Given the description of an element on the screen output the (x, y) to click on. 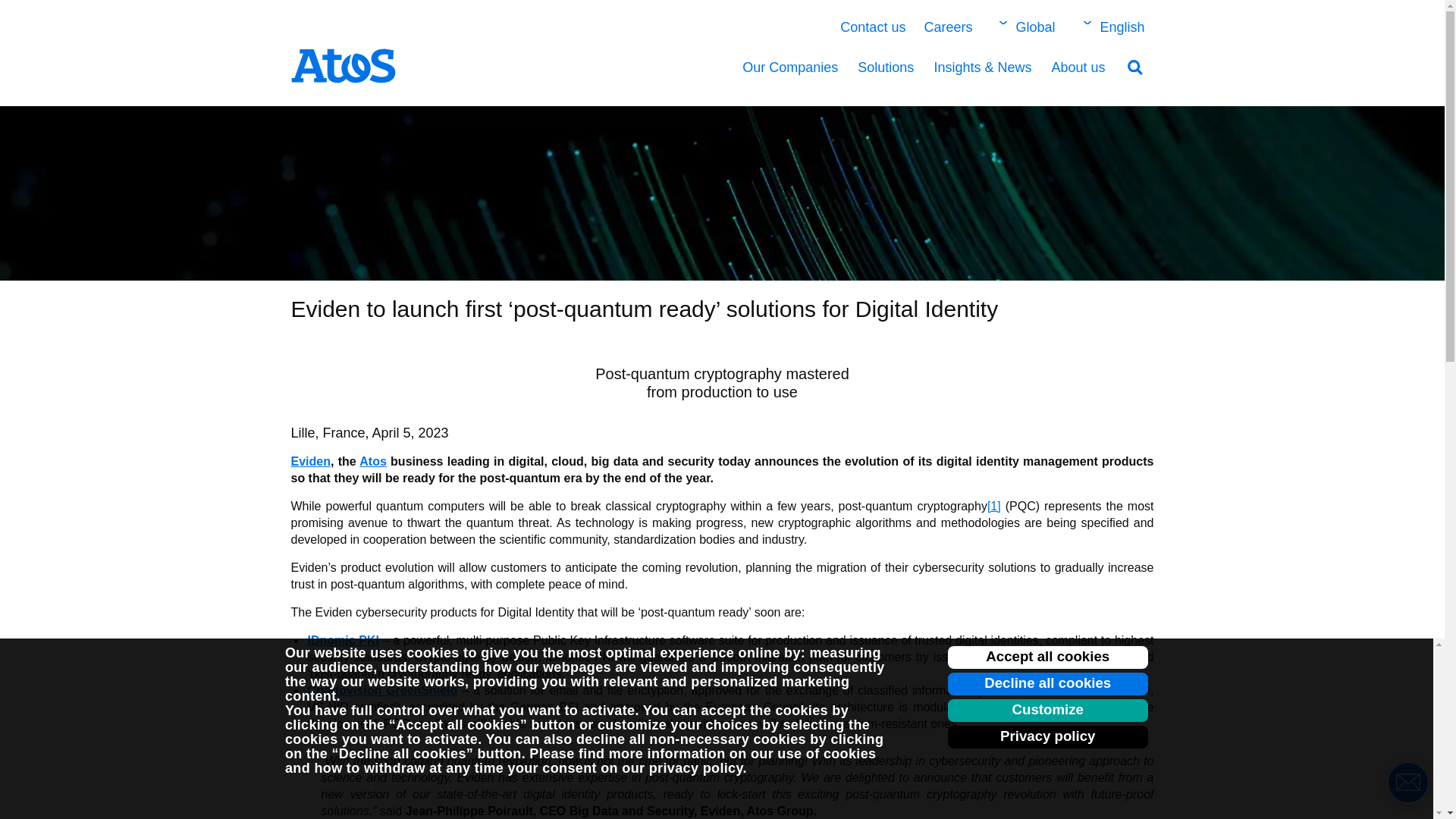
cookies (433, 652)
Privacy policy (1047, 736)
Contact us (872, 27)
Customize (1047, 710)
Careers (947, 27)
privacy policy (695, 767)
Decline all cookies (1047, 683)
Accept all cookies (1047, 657)
Global (1023, 27)
